Given the description of an element on the screen output the (x, y) to click on. 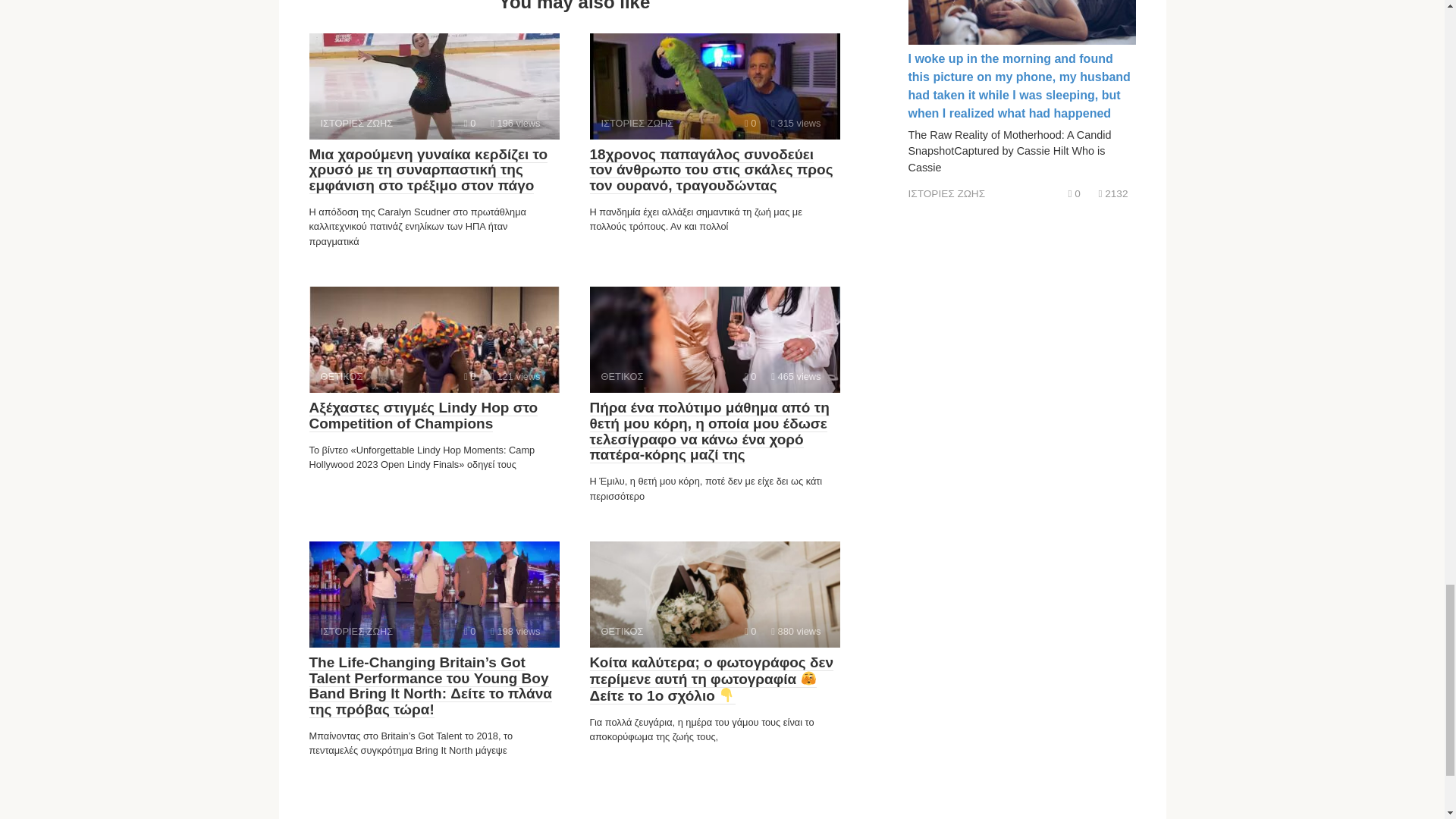
Views (515, 376)
Comments (749, 376)
Comments (749, 631)
Views (796, 631)
Comments (470, 376)
Views (796, 122)
Comments (470, 122)
Views (515, 122)
Comments (749, 122)
Views (515, 631)
Views (796, 376)
Comments (470, 631)
